Given the description of an element on the screen output the (x, y) to click on. 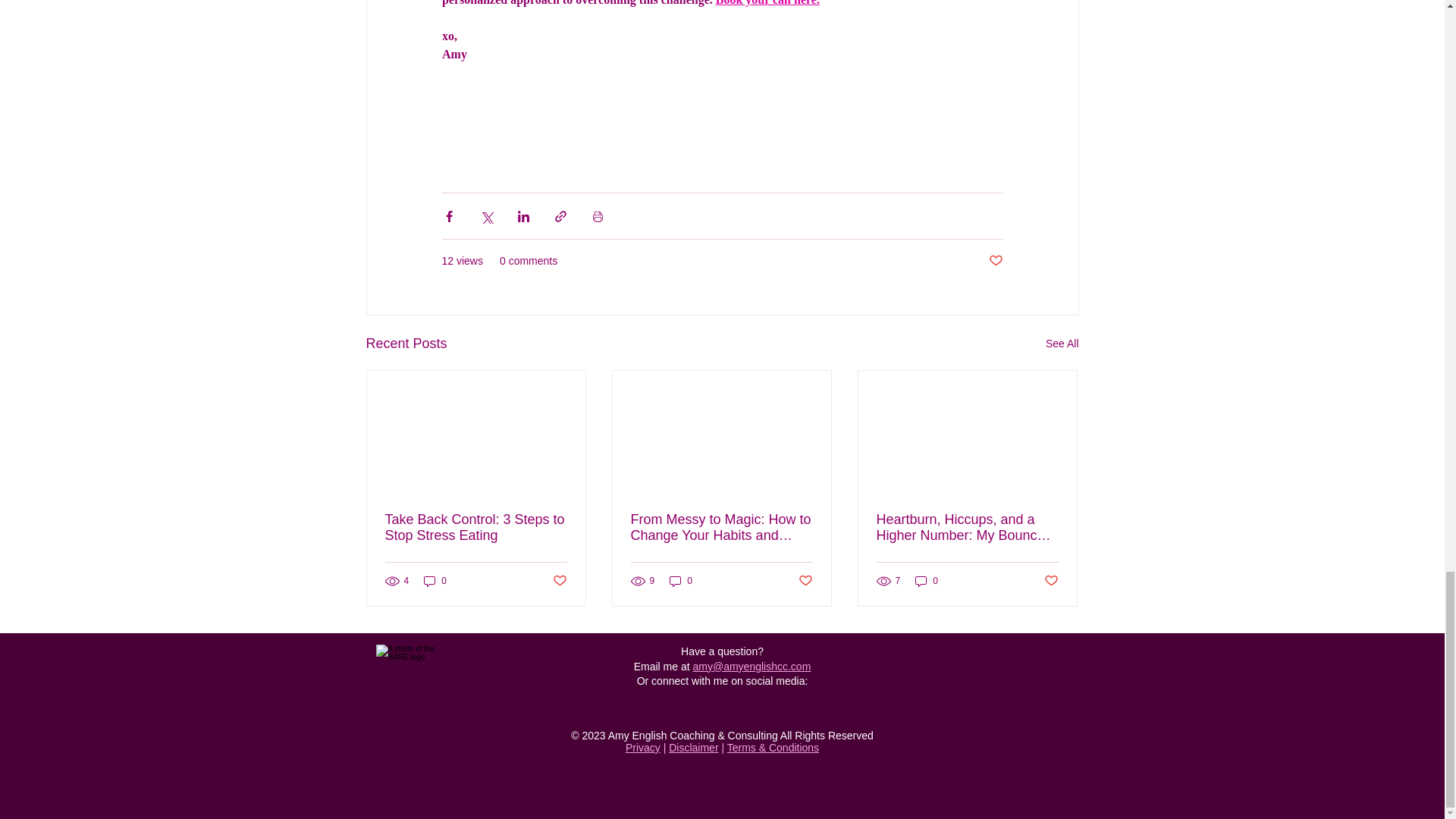
Privacy (643, 747)
0 (681, 580)
Post not marked as liked (558, 580)
0 (435, 580)
See All (1061, 343)
Post not marked as liked (804, 580)
Book your call here. (766, 2)
0 (926, 580)
Disclaimer (692, 747)
Take Back Control: 3 Steps to Stop Stress Eating (476, 527)
Post not marked as liked (1050, 580)
Post not marked as liked (995, 261)
